Given the description of an element on the screen output the (x, y) to click on. 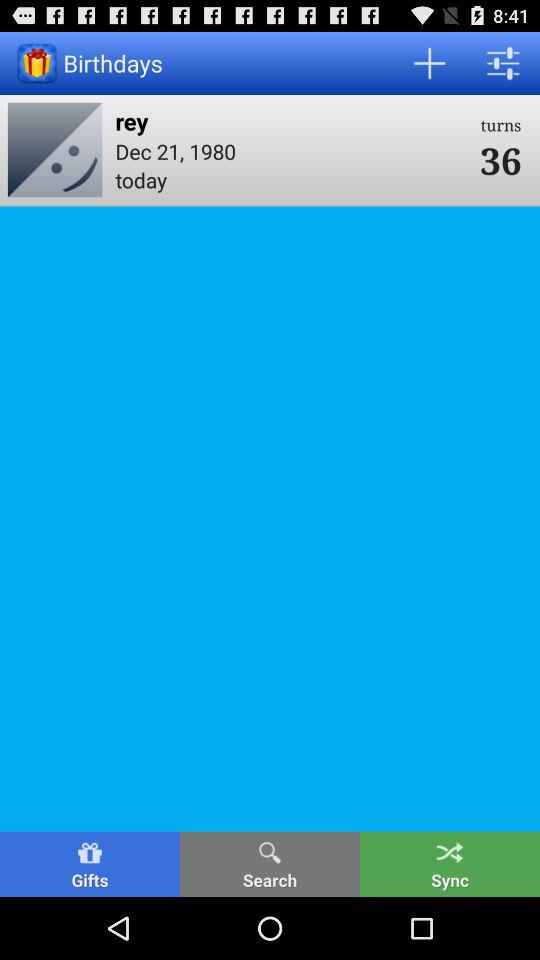
press search (270, 863)
